Given the description of an element on the screen output the (x, y) to click on. 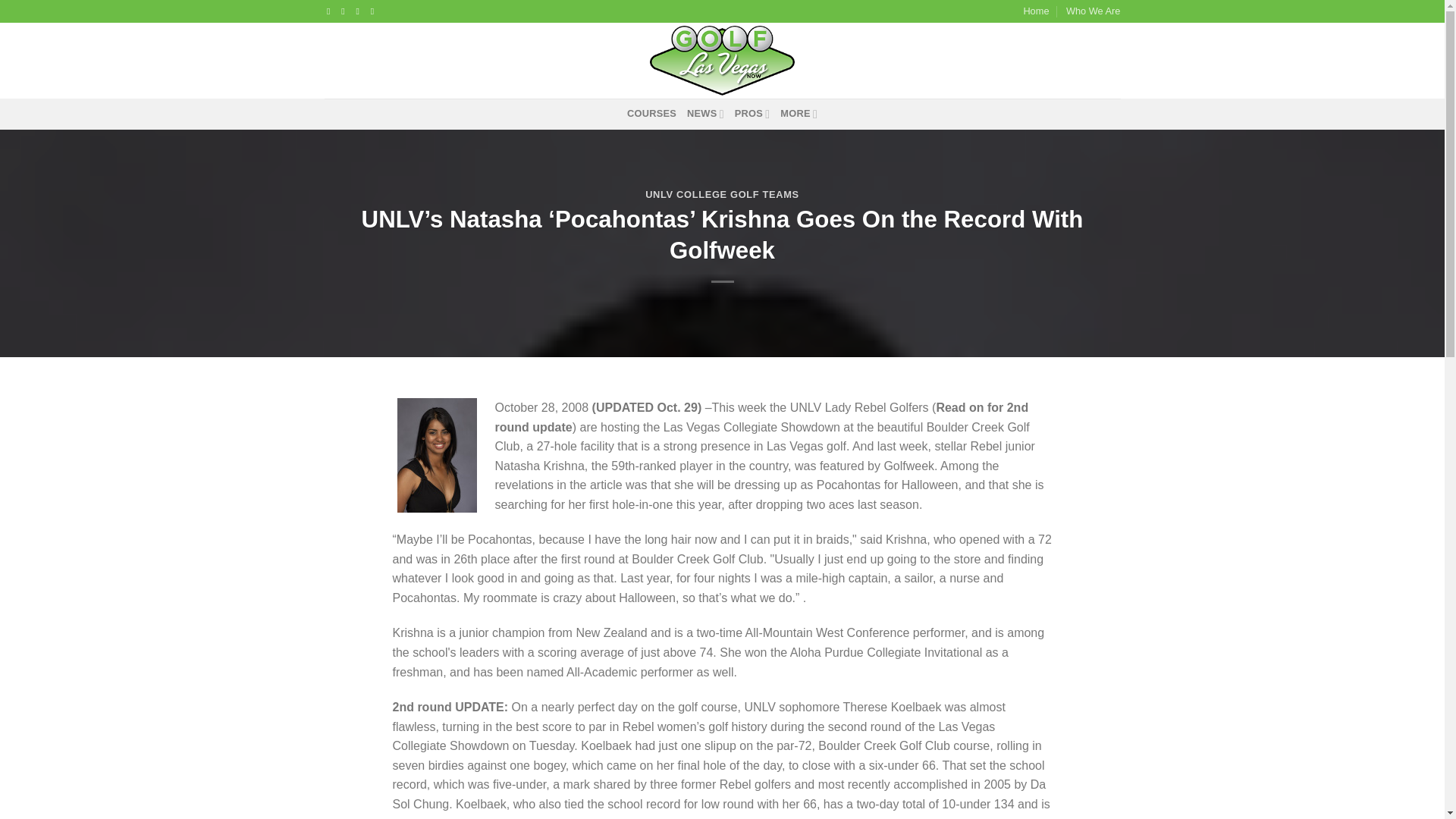
PROS (752, 113)
Home (1035, 11)
MORE (798, 113)
NEWS (705, 113)
UNLV COLLEGE GOLF TEAMS (722, 194)
COURSES (652, 113)
Who We Are (1093, 11)
